Given the description of an element on the screen output the (x, y) to click on. 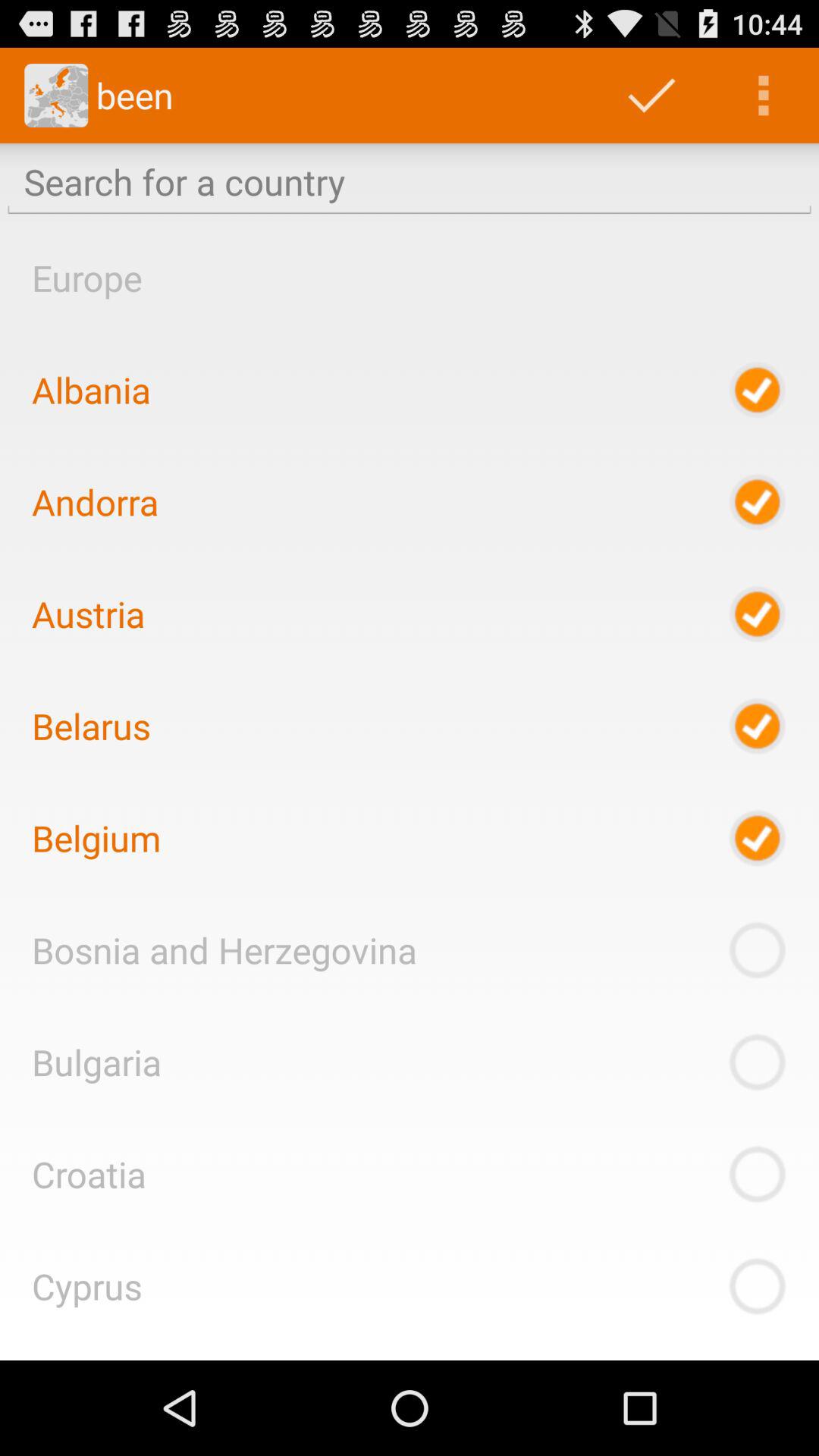
turn on the icon below europe icon (90, 389)
